Given the description of an element on the screen output the (x, y) to click on. 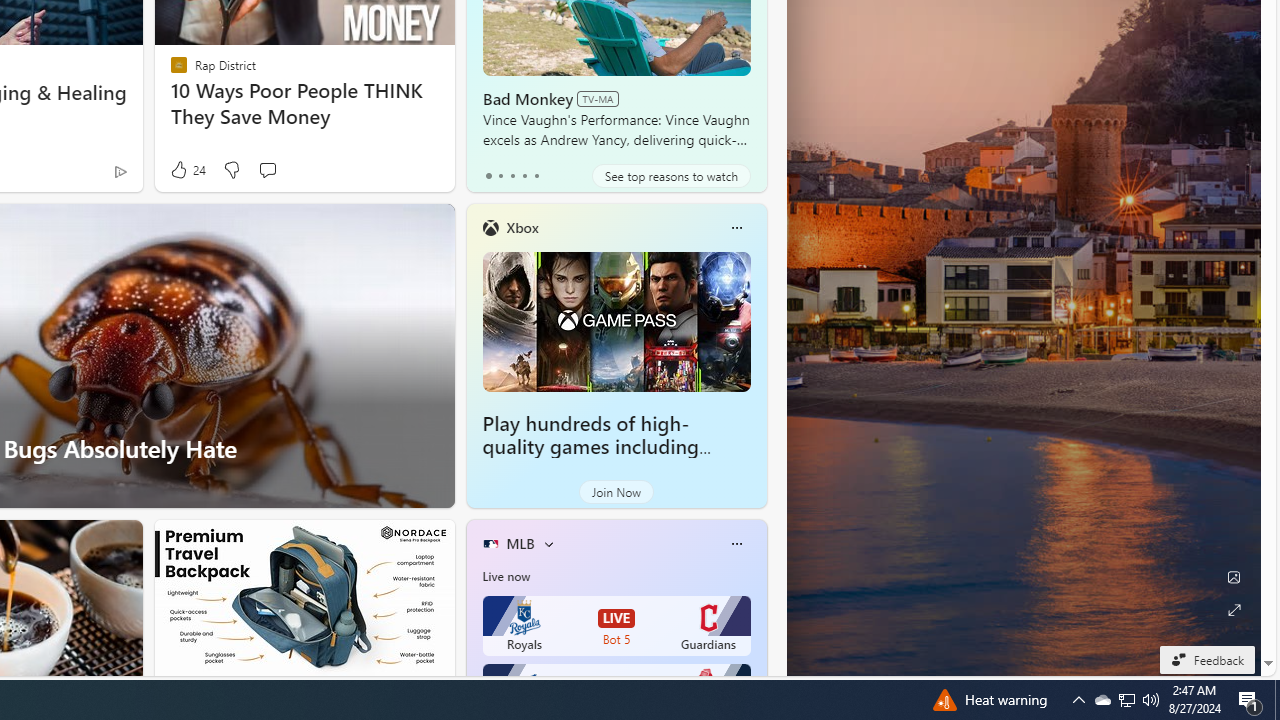
Feedback (1206, 659)
MLB (520, 543)
More options (736, 543)
Dislike (230, 170)
Edit Background (1233, 577)
tab-1 (500, 175)
Join Now (616, 491)
